Given the description of an element on the screen output the (x, y) to click on. 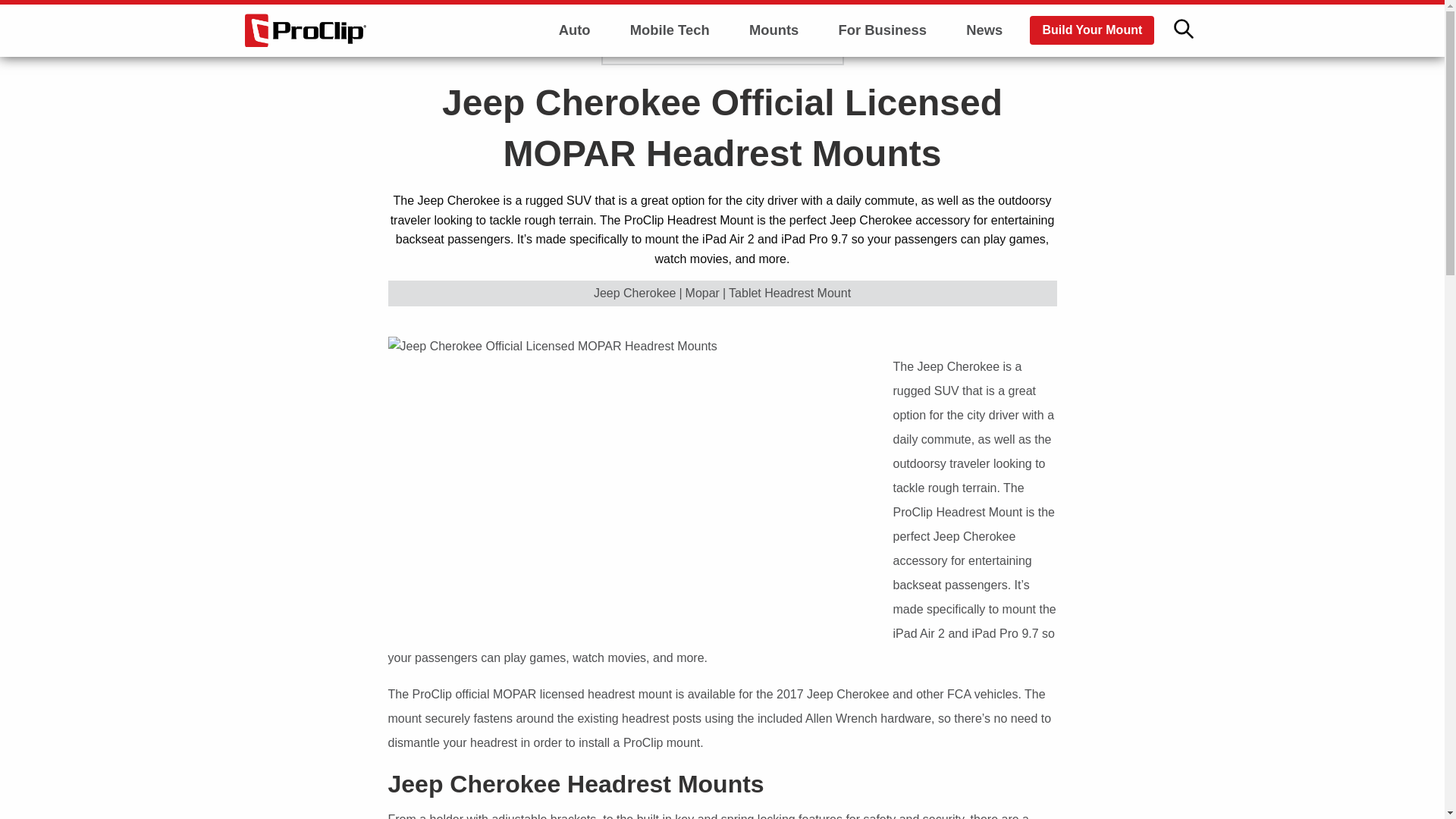
Apple (669, 66)
Android (669, 109)
Phone Holders (774, 66)
Exact-Fit Mounts (774, 109)
Build Your Mount (1091, 30)
Mobile Tech (669, 30)
For Business (882, 30)
Safety (574, 109)
AUTO (659, 43)
Tablet Headrest Mount (789, 292)
News (983, 30)
Mounts (773, 30)
Auto (574, 30)
Mopar (702, 292)
Jeep Cherokee (635, 292)
